Given the description of an element on the screen output the (x, y) to click on. 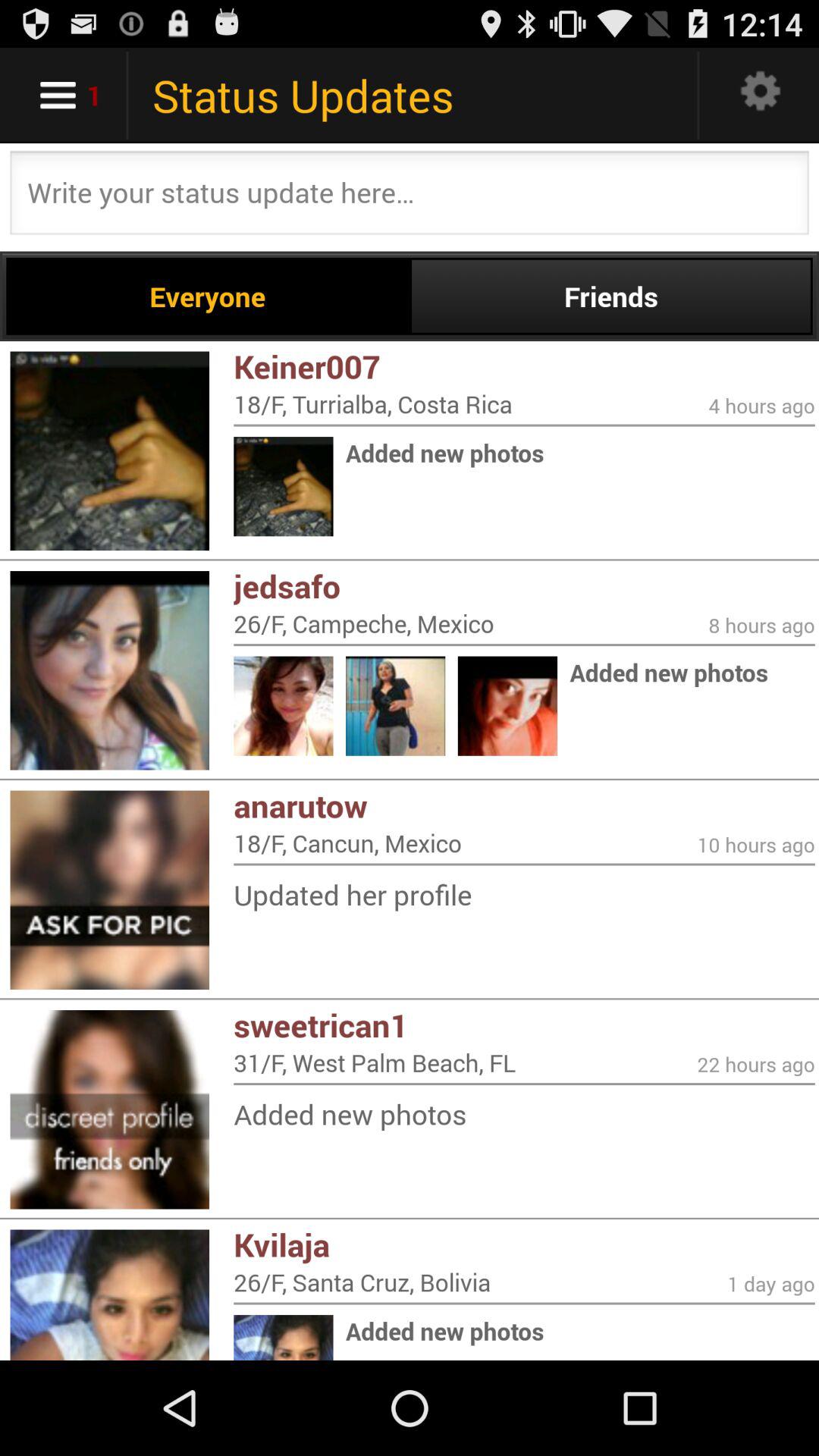
press icon to the right of everyone (610, 295)
